Given the description of an element on the screen output the (x, y) to click on. 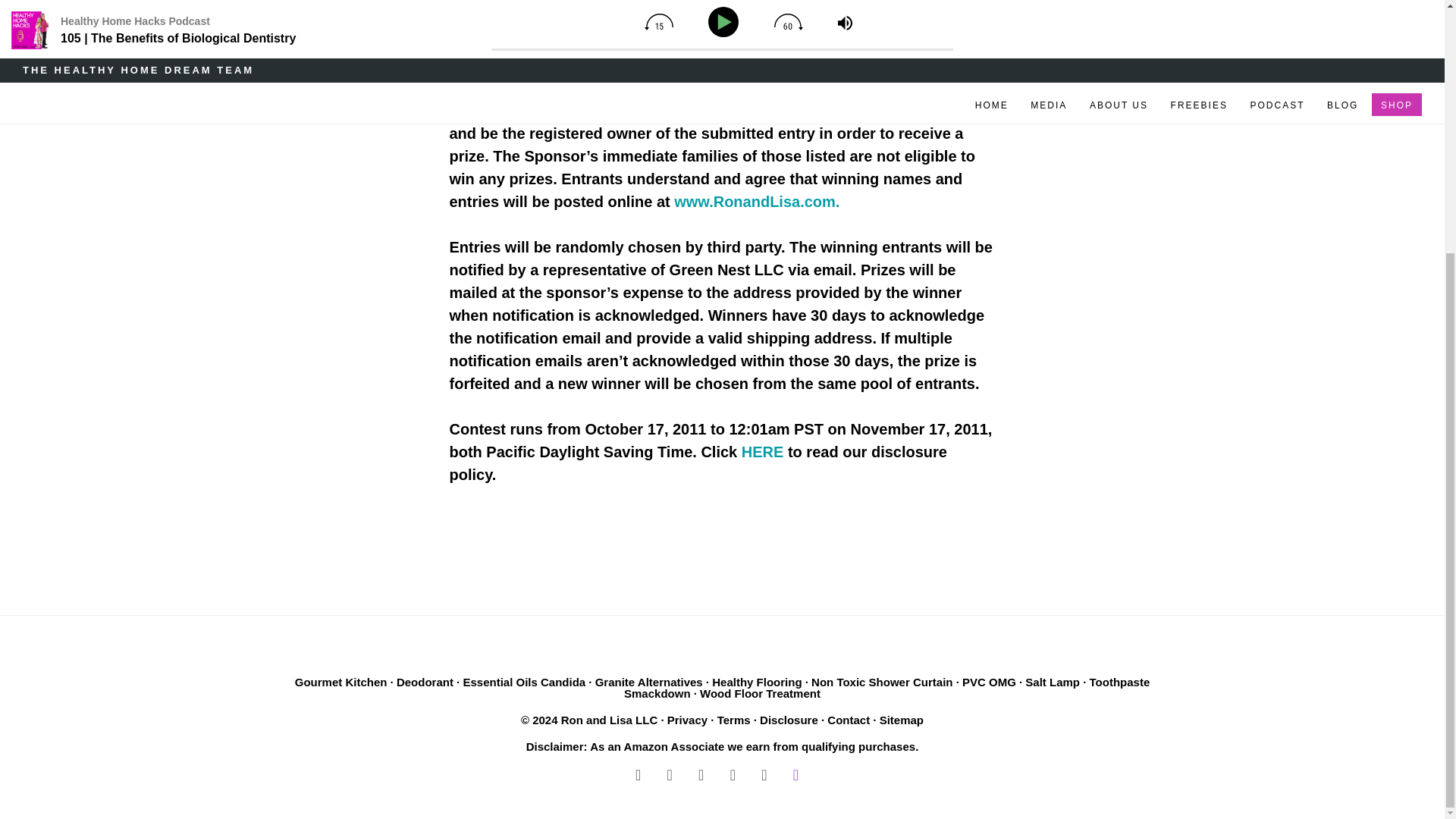
Default Label (795, 773)
Facebook (638, 773)
Default Label (764, 773)
Twitter (669, 773)
Default Label (732, 773)
Instagram (700, 773)
